Given the description of an element on the screen output the (x, y) to click on. 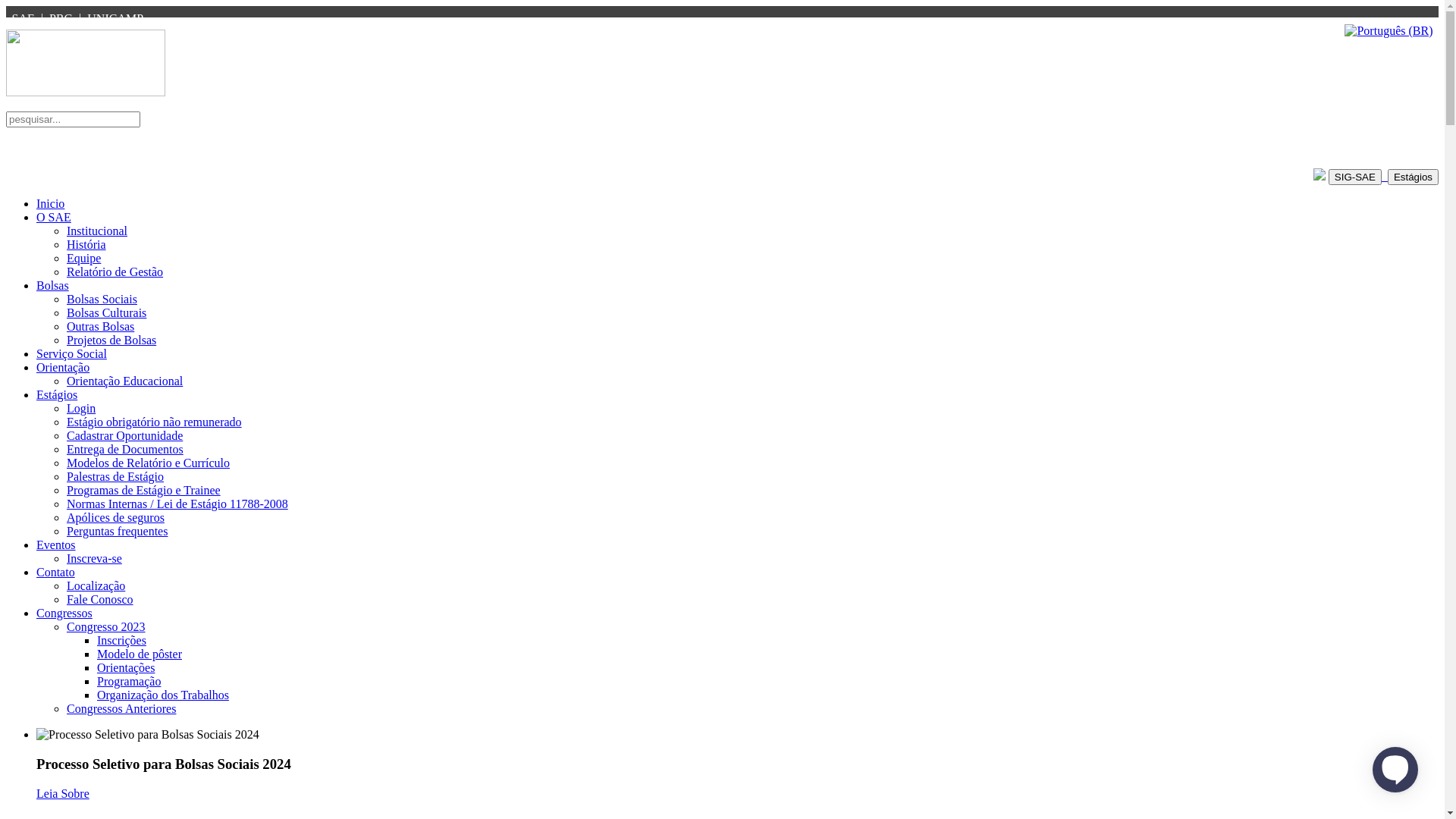
Bolsas Element type: text (52, 285)
SIG-SAE Element type: text (1354, 177)
Eventos Element type: text (55, 544)
Leia Sobre Element type: text (62, 793)
Equipe Element type: text (83, 257)
Congressos Anteriores Element type: text (120, 708)
  Element type: text (1357, 175)
Bolsas Sociais Element type: text (101, 298)
Bolsas Culturais Element type: text (106, 312)
Perguntas frequentes Element type: text (116, 530)
Fale Conosco Element type: text (99, 599)
Projetos de Bolsas Element type: text (111, 339)
SAE Element type: text (23, 18)
O SAE Element type: text (53, 216)
Entrega de Documentos Element type: text (124, 448)
Congresso 2023 Element type: text (105, 626)
Login Element type: text (80, 407)
Cadastrar Oportunidade Element type: text (124, 435)
UNICAMP Element type: text (114, 18)
PRG Element type: text (60, 18)
Congressos Element type: text (64, 612)
Institucional Element type: text (96, 230)
Contato Element type: text (55, 571)
Inscreva-se Element type: text (94, 558)
Outras Bolsas Element type: text (100, 326)
Inicio Element type: text (50, 203)
